Given the description of an element on the screen output the (x, y) to click on. 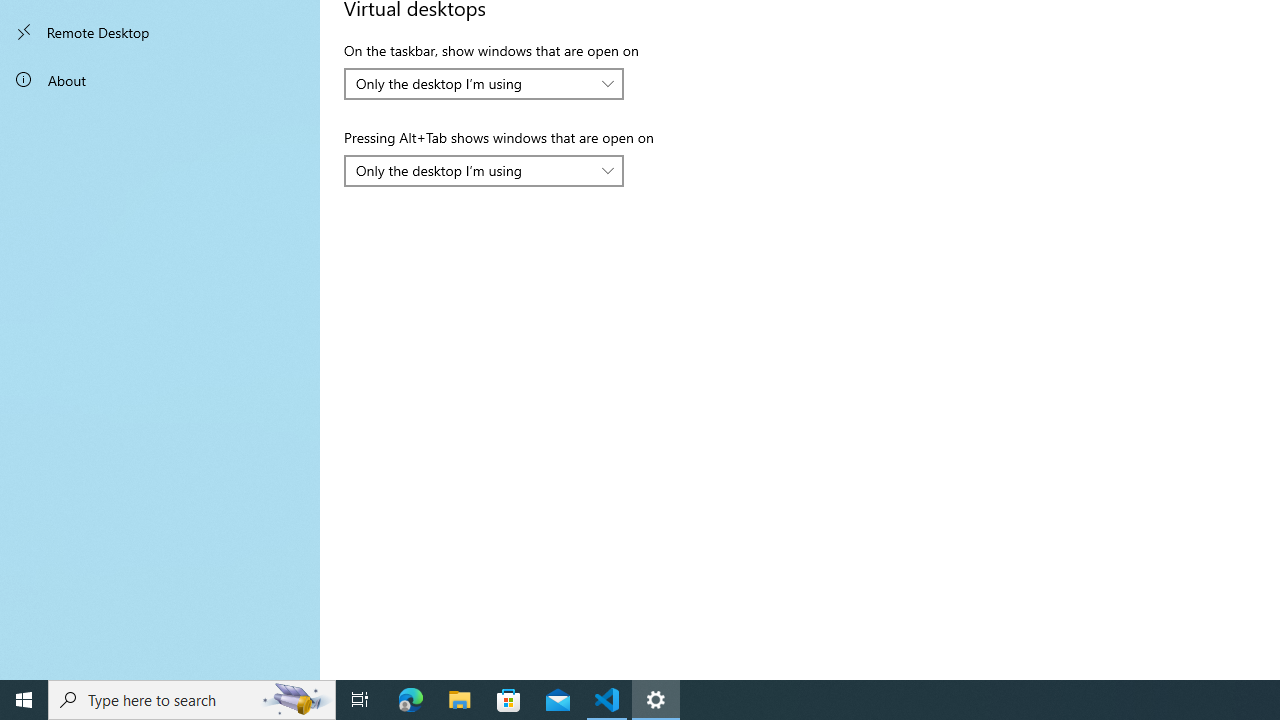
Type here to search (191, 699)
Settings - 1 running window (656, 699)
Visual Studio Code - 1 running window (607, 699)
Pressing Alt+Tab shows windows that are open on (484, 170)
Microsoft Store (509, 699)
Search highlights icon opens search home window (295, 699)
Start (24, 699)
File Explorer (460, 699)
Task View (359, 699)
On the taskbar, show windows that are open on (484, 83)
Remote Desktop (160, 31)
About (160, 79)
Microsoft Edge (411, 699)
